Given the description of an element on the screen output the (x, y) to click on. 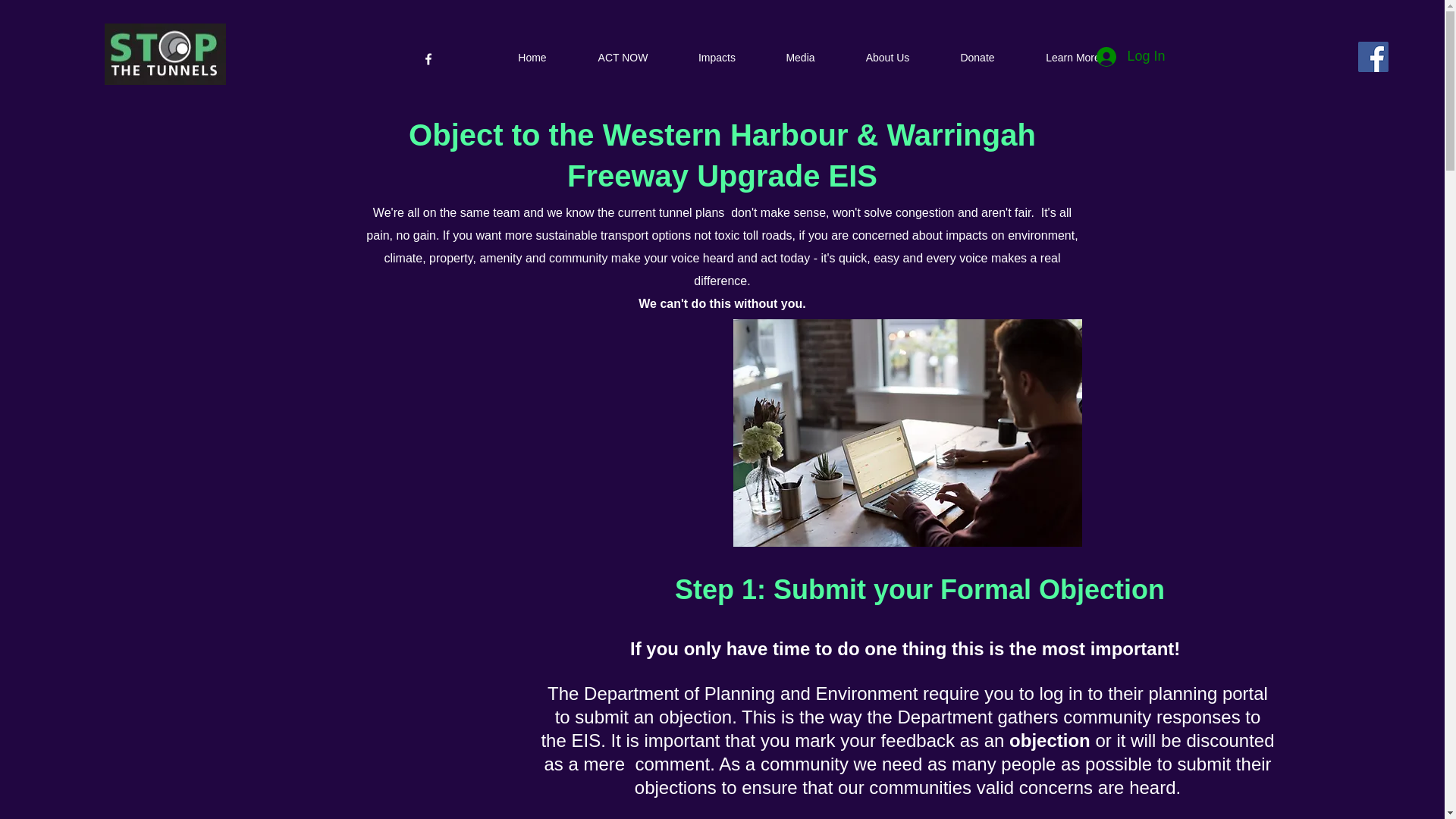
ACT NOW (622, 53)
About Us (887, 53)
Log In (1130, 56)
Impacts (716, 53)
Learn More (1072, 53)
Step 1: Submit your Formal Objection (919, 589)
Media (800, 53)
Home (532, 53)
Donate (977, 53)
